Given the description of an element on the screen output the (x, y) to click on. 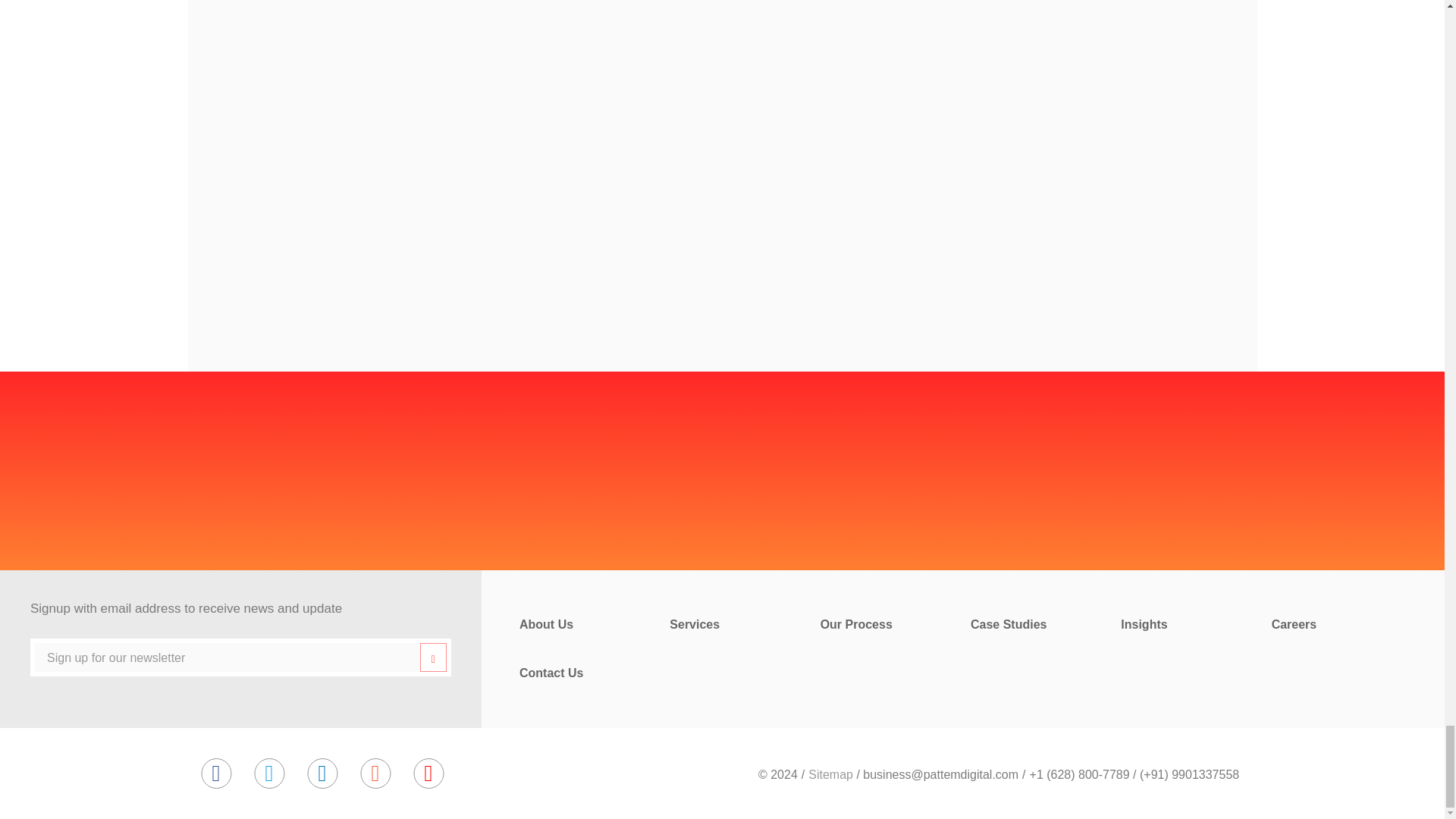
Youtube (428, 773)
Instagram (374, 773)
Linked In (322, 773)
facebook (215, 773)
Twitter (268, 773)
Services (694, 624)
